Given the description of an element on the screen output the (x, y) to click on. 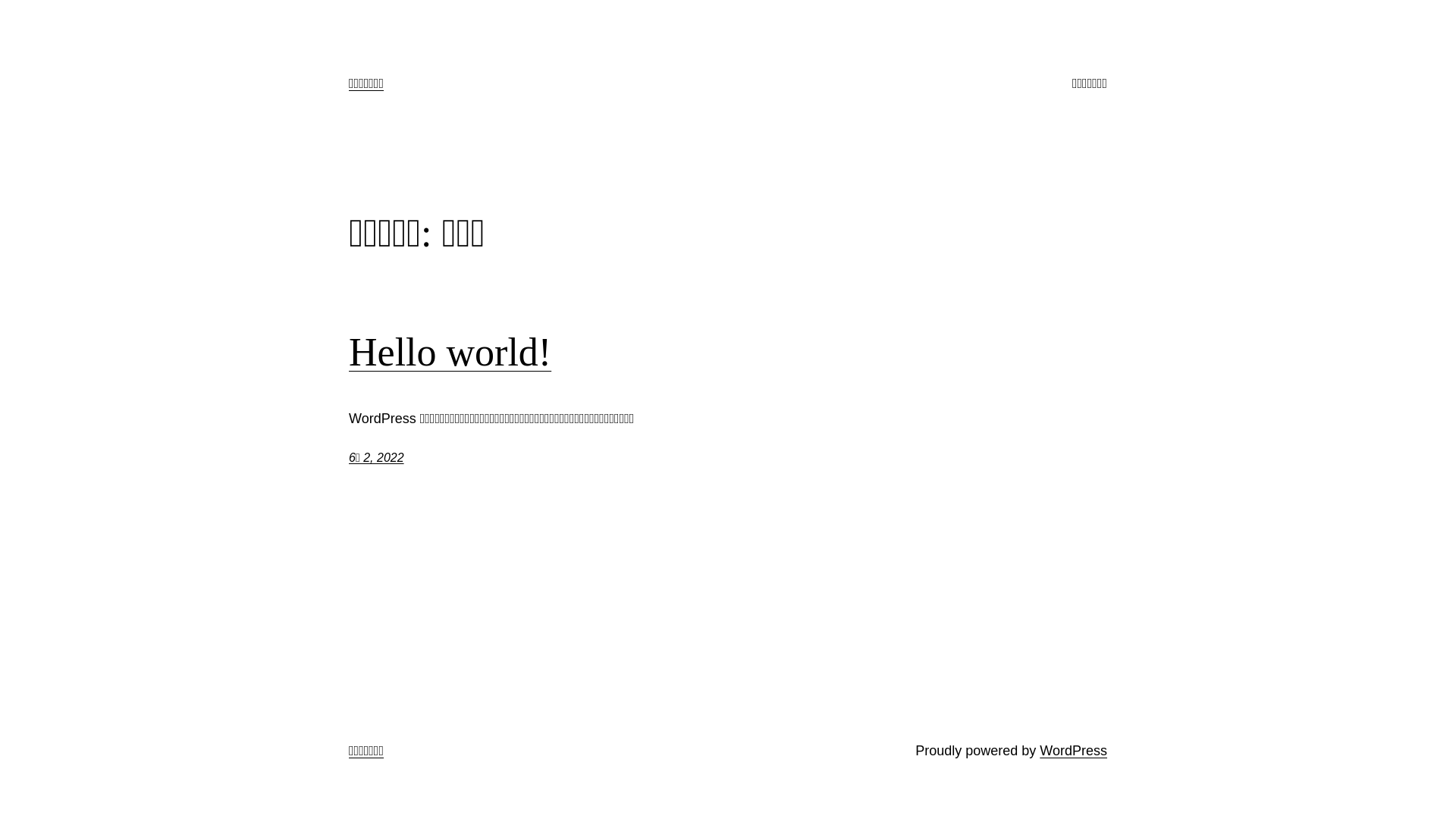
WordPress Element type: text (1073, 750)
Hello world! Element type: text (449, 352)
